Given the description of an element on the screen output the (x, y) to click on. 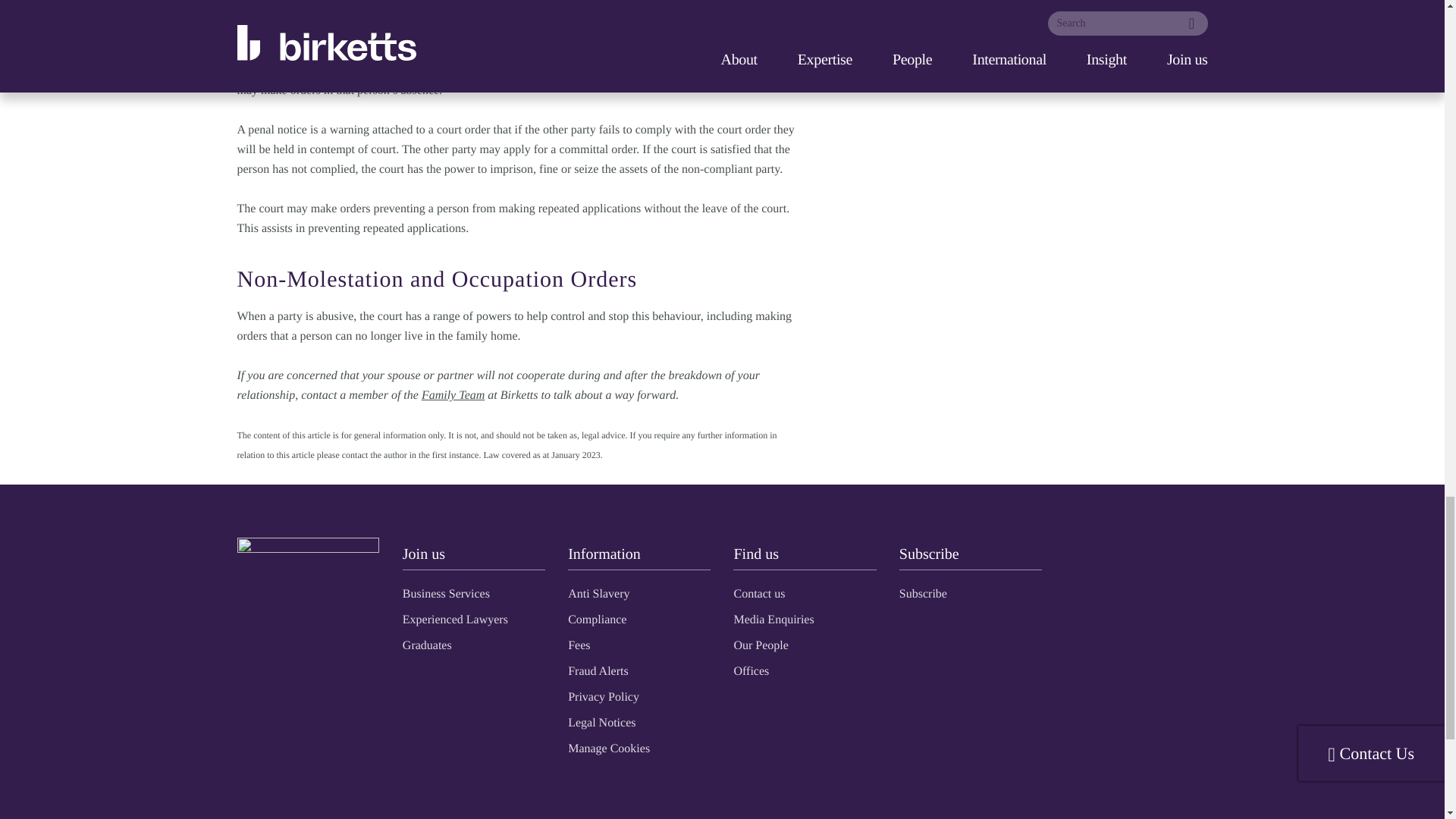
Anti Slavery  (597, 593)
Graduates (427, 644)
Fees (578, 644)
Experienced Lawyers (455, 618)
Fraud Alerts (597, 670)
Legal Notices (600, 721)
Our People (760, 644)
Subscribe (923, 593)
Offices (750, 670)
Manage Cookies (608, 748)
Compliance (596, 618)
Contact us (758, 593)
Media Enquiries (773, 618)
Privacy Policy (603, 696)
Business Services (446, 593)
